Given the description of an element on the screen output the (x, y) to click on. 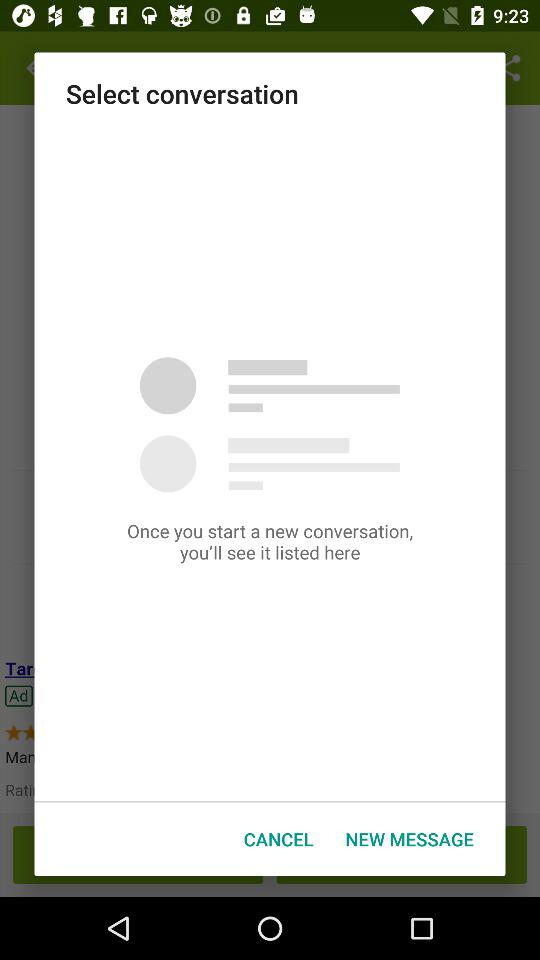
flip until cancel item (278, 838)
